Given the description of an element on the screen output the (x, y) to click on. 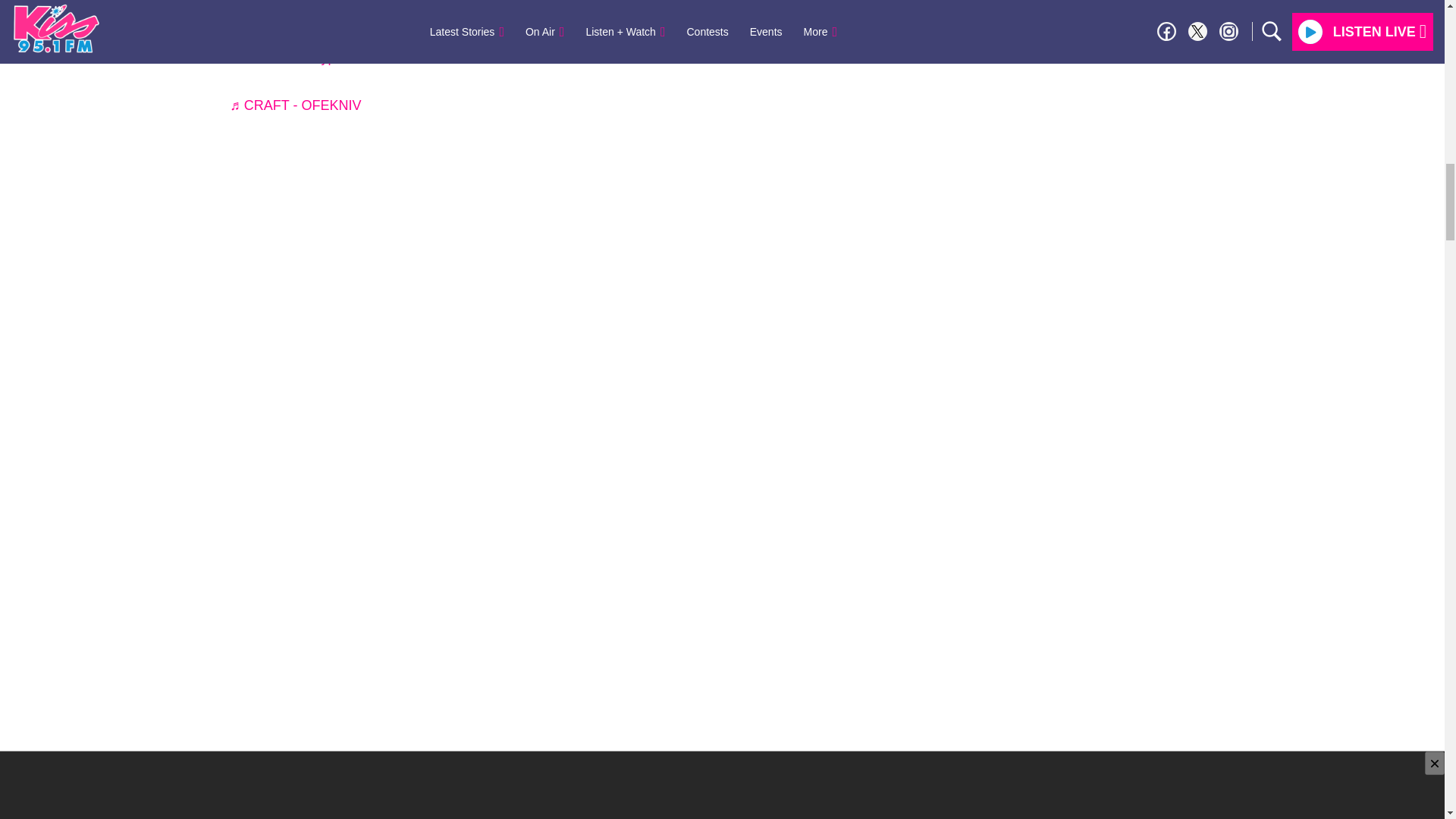
diy (438, 35)
homemade (267, 57)
diyfurniture (493, 35)
fyp (321, 57)
marketplacefind (586, 35)
